Given the description of an element on the screen output the (x, y) to click on. 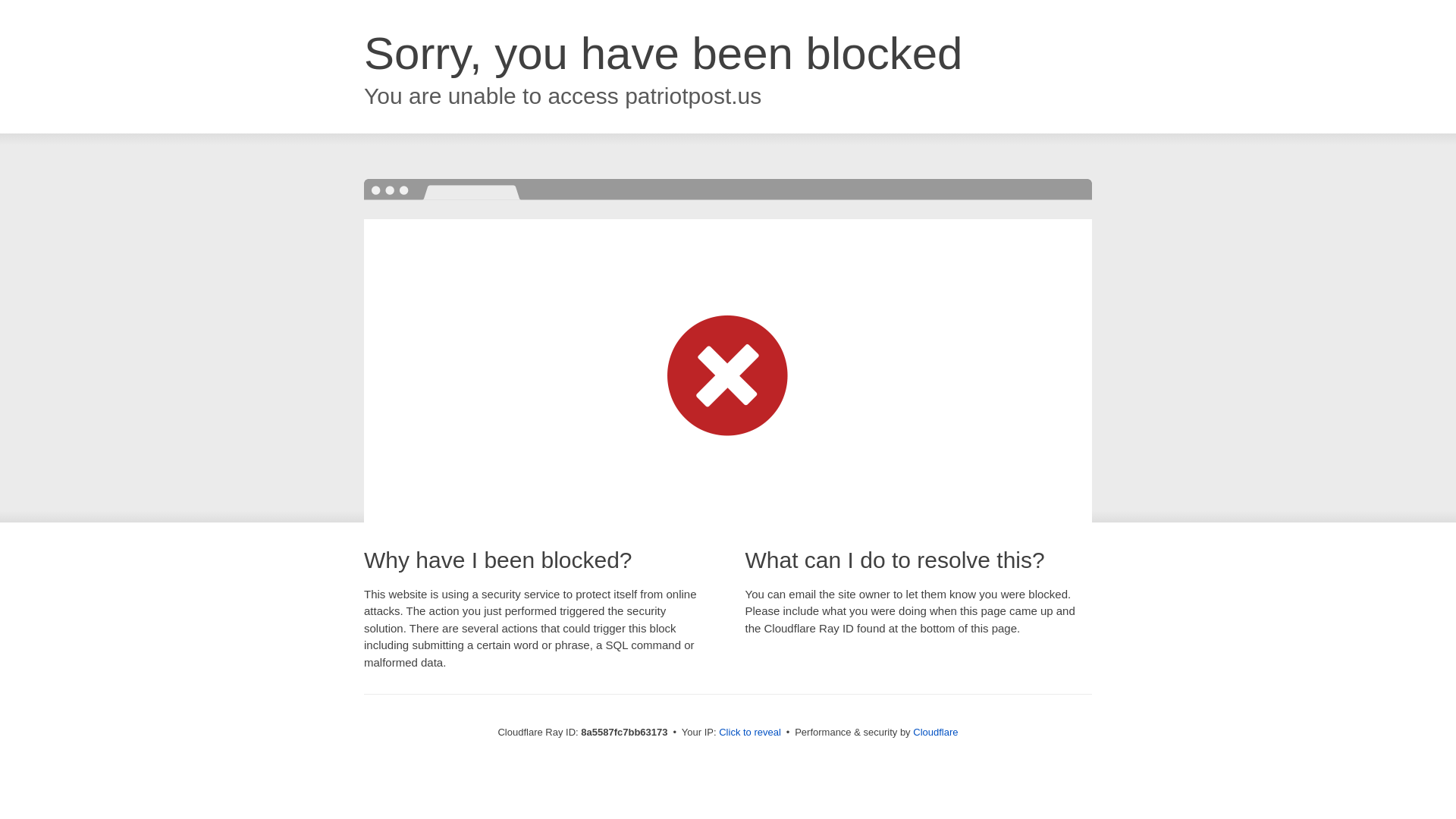
Click to reveal (749, 732)
Cloudflare (935, 731)
